Given the description of an element on the screen output the (x, y) to click on. 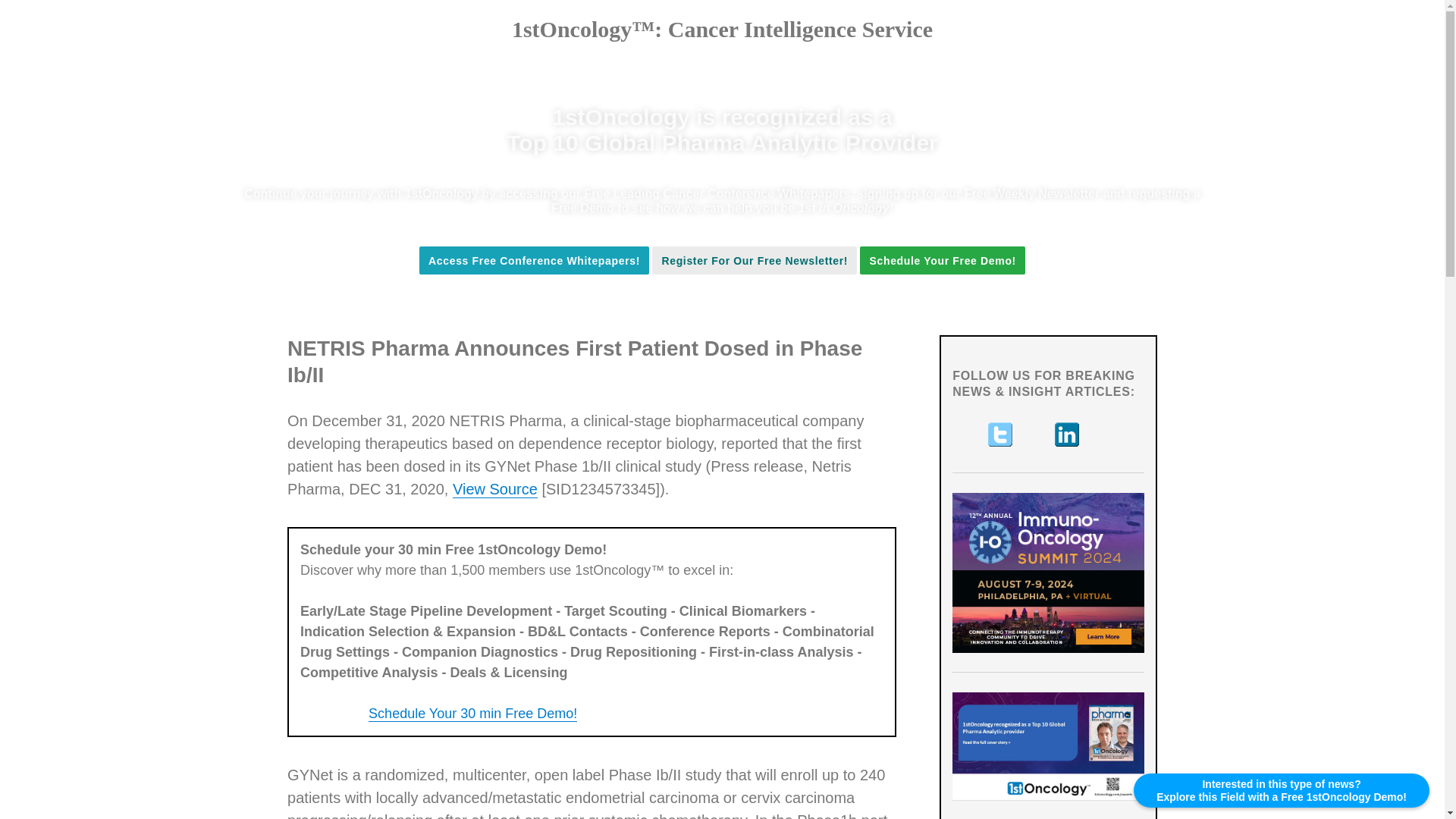
Access Free Conference Whitepapers! (534, 260)
1stOncology a Top 10 Pharma Analytic Provider (1048, 746)
Access Free Conference Whitepapers! (534, 260)
Schedule Your Free Demo! (942, 260)
IO Summit 2024 (1048, 572)
Follow us on Twitter (1000, 434)
Register for our 1stOncologyWeekly Newsletter! (754, 260)
View Source (494, 488)
Access Free Conference Whitepapers! (534, 260)
Register For Our Free Newsletter! (754, 260)
Schedule Your Free Demo! (942, 260)
Register For Our Free Newsletter! (754, 260)
Schedule Your Free Demo! (942, 260)
Schedule Your 30 min Free Demo! (472, 713)
